Given the description of an element on the screen output the (x, y) to click on. 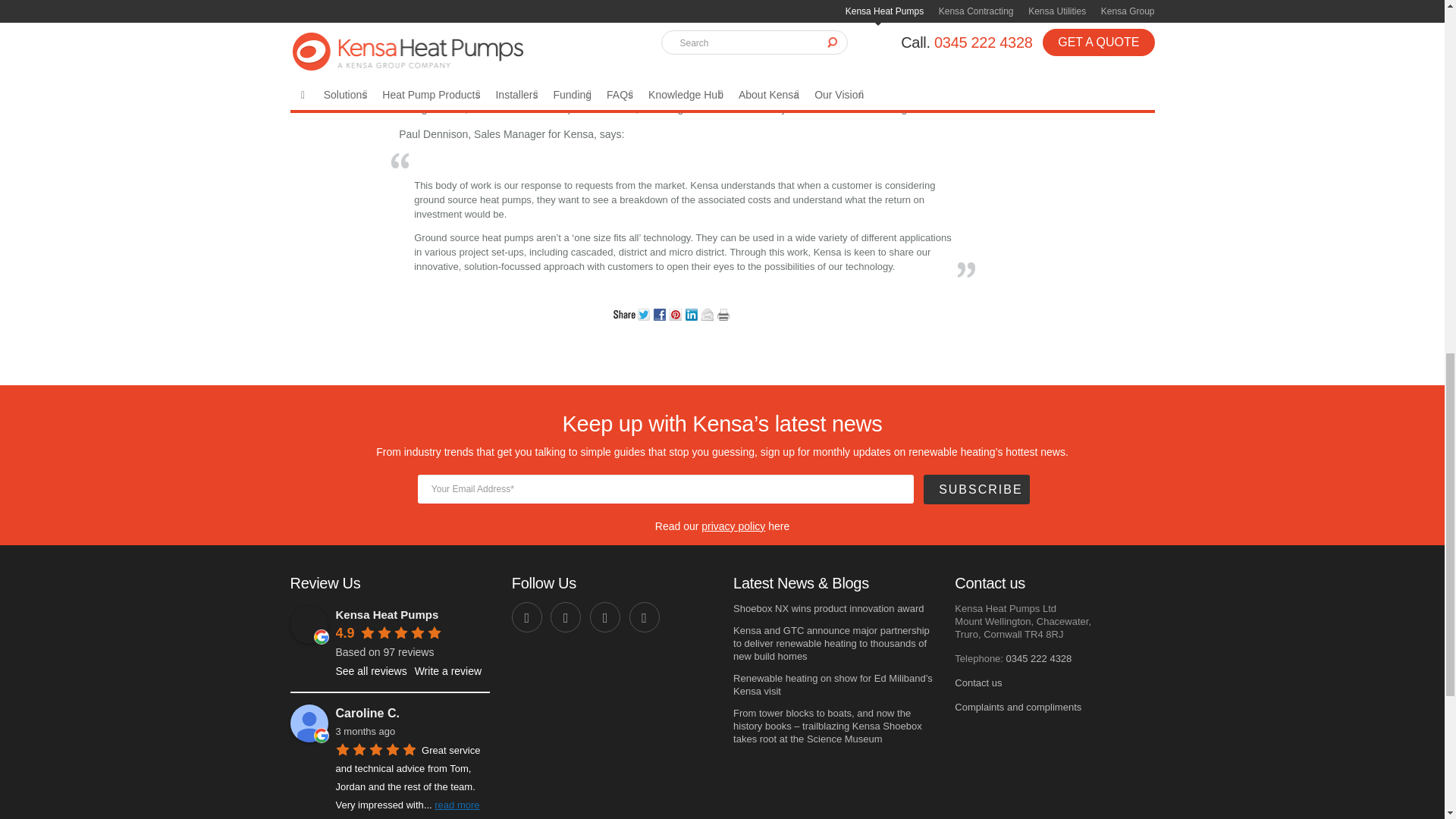
Caroline C. (308, 723)
Kensa Heat Pumps (308, 624)
Subscribe (976, 489)
Caroline C. (411, 713)
